Given the description of an element on the screen output the (x, y) to click on. 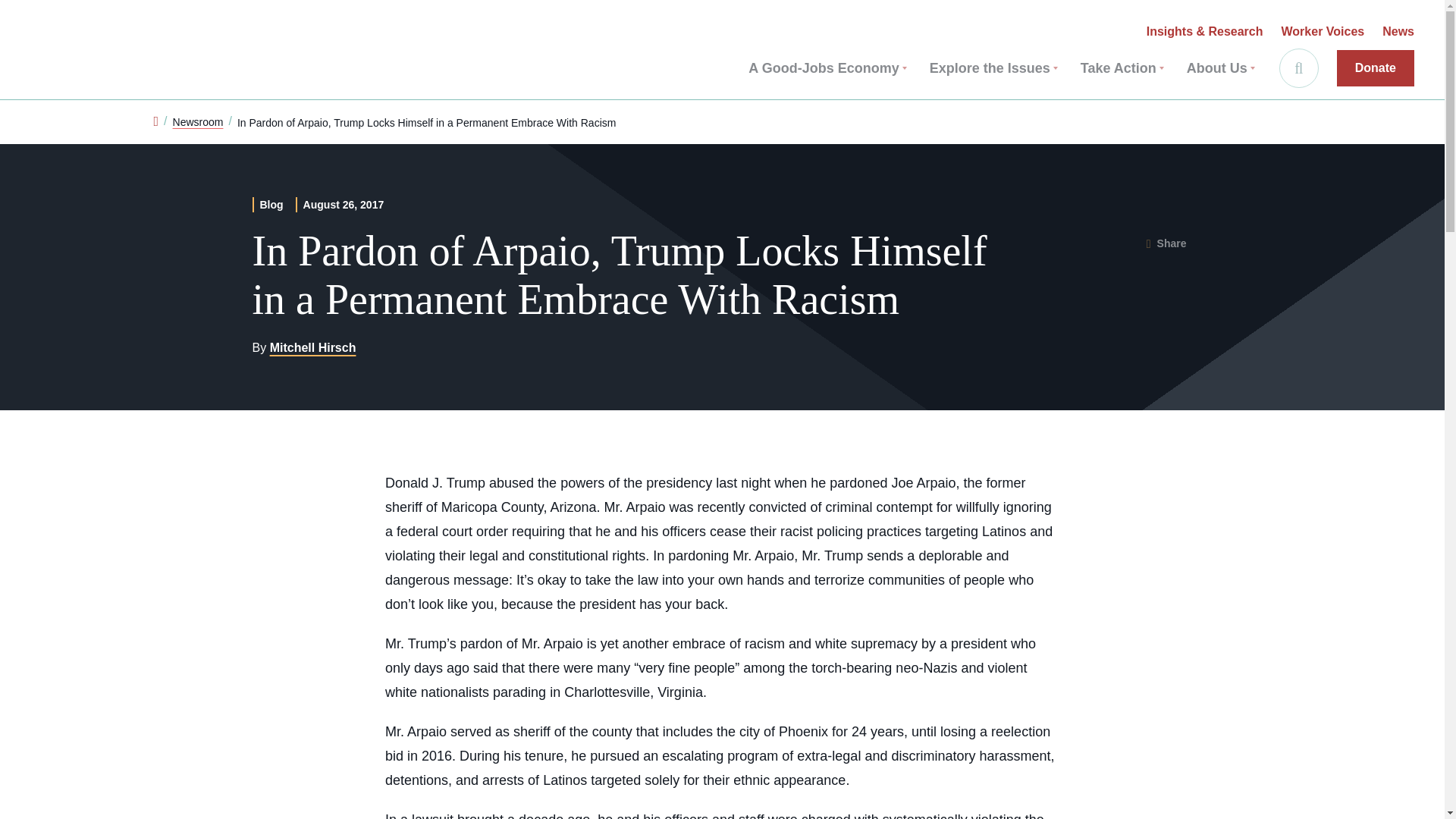
Worker Voices (1323, 31)
Donate (1374, 67)
News (1397, 31)
A Good-Jobs Economy (826, 68)
Skip to main content (21, 15)
Take Action (1121, 68)
About Us (1220, 68)
Explore the Issues (994, 68)
